Given the description of an element on the screen output the (x, y) to click on. 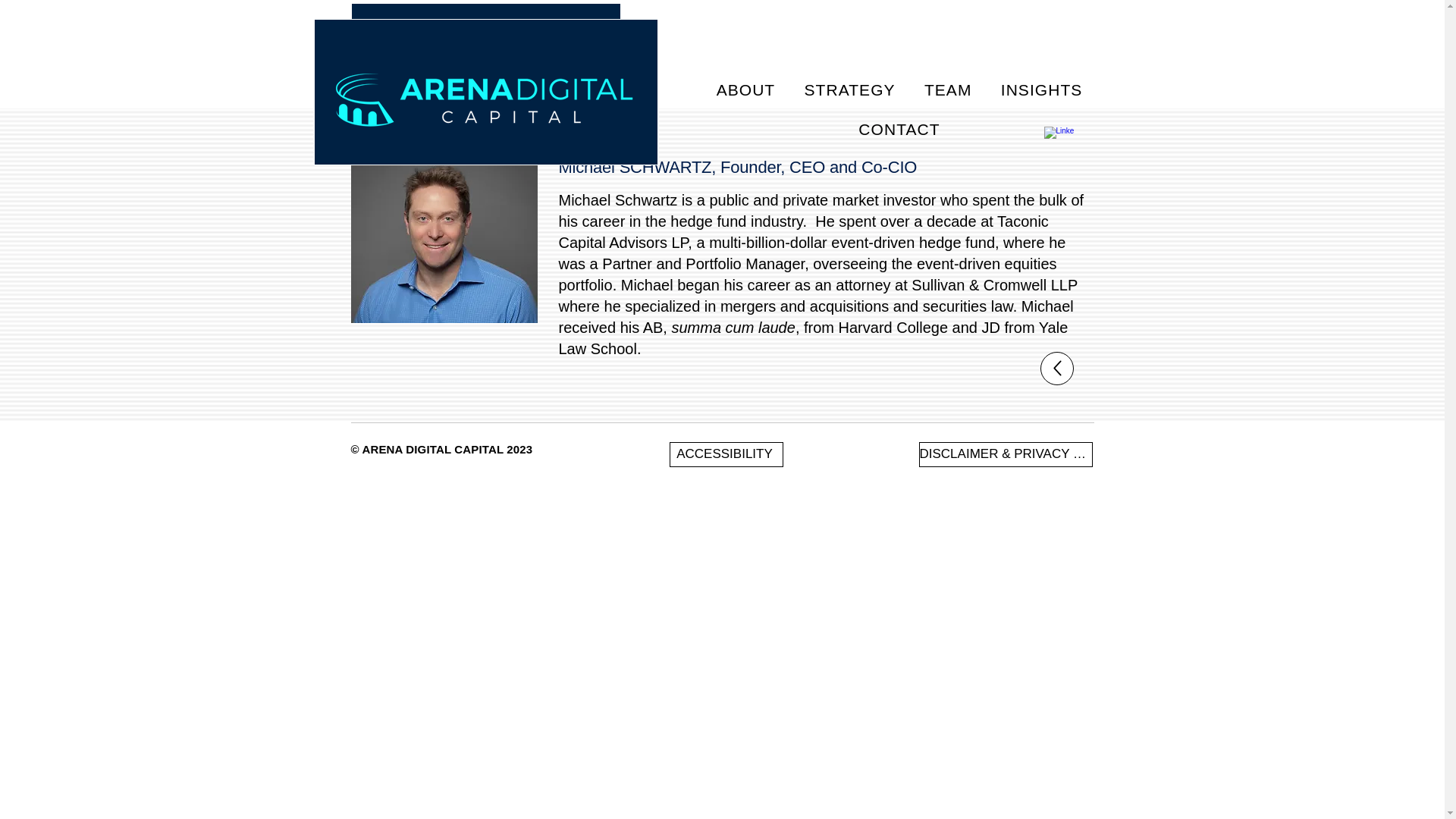
CONTACT (899, 129)
Michael Schwartz photo (443, 239)
Logo Arena Digital Capital (484, 65)
Arena Digita Capita logo (482, 99)
TEAM (948, 90)
ABOUT (745, 90)
STRATEGY (848, 90)
ACCESSIBILITY (725, 454)
INSIGHTS (1042, 90)
